Given the description of an element on the screen output the (x, y) to click on. 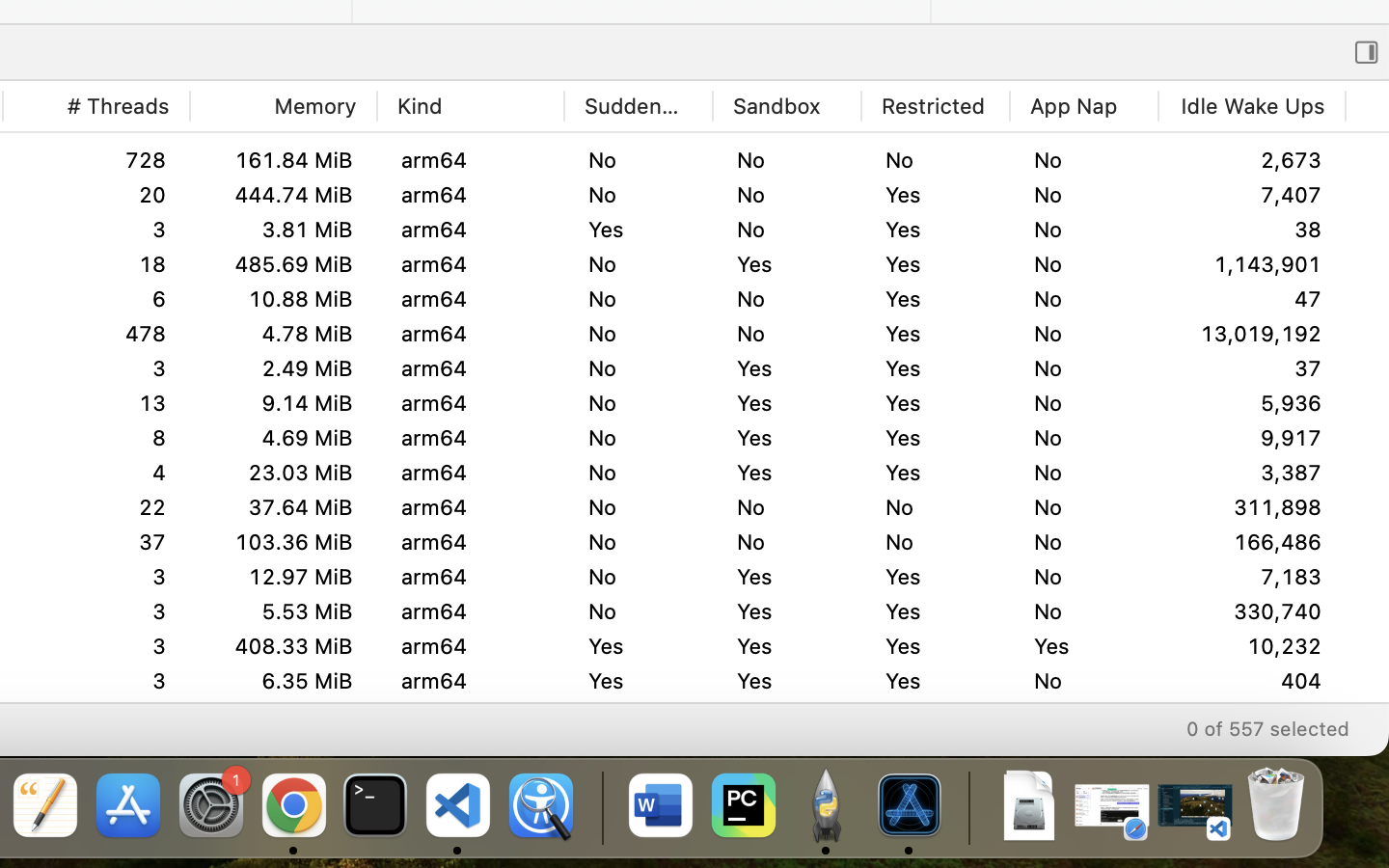
24.08 MiB Element type: AXStaticText (283, 367)
7,175 Element type: AXStaticText (1251, 506)
5,883 Element type: AXStaticText (1251, 194)
37 Element type: AXStaticText (1251, 333)
20 Element type: AXStaticText (1251, 472)
